Given the description of an element on the screen output the (x, y) to click on. 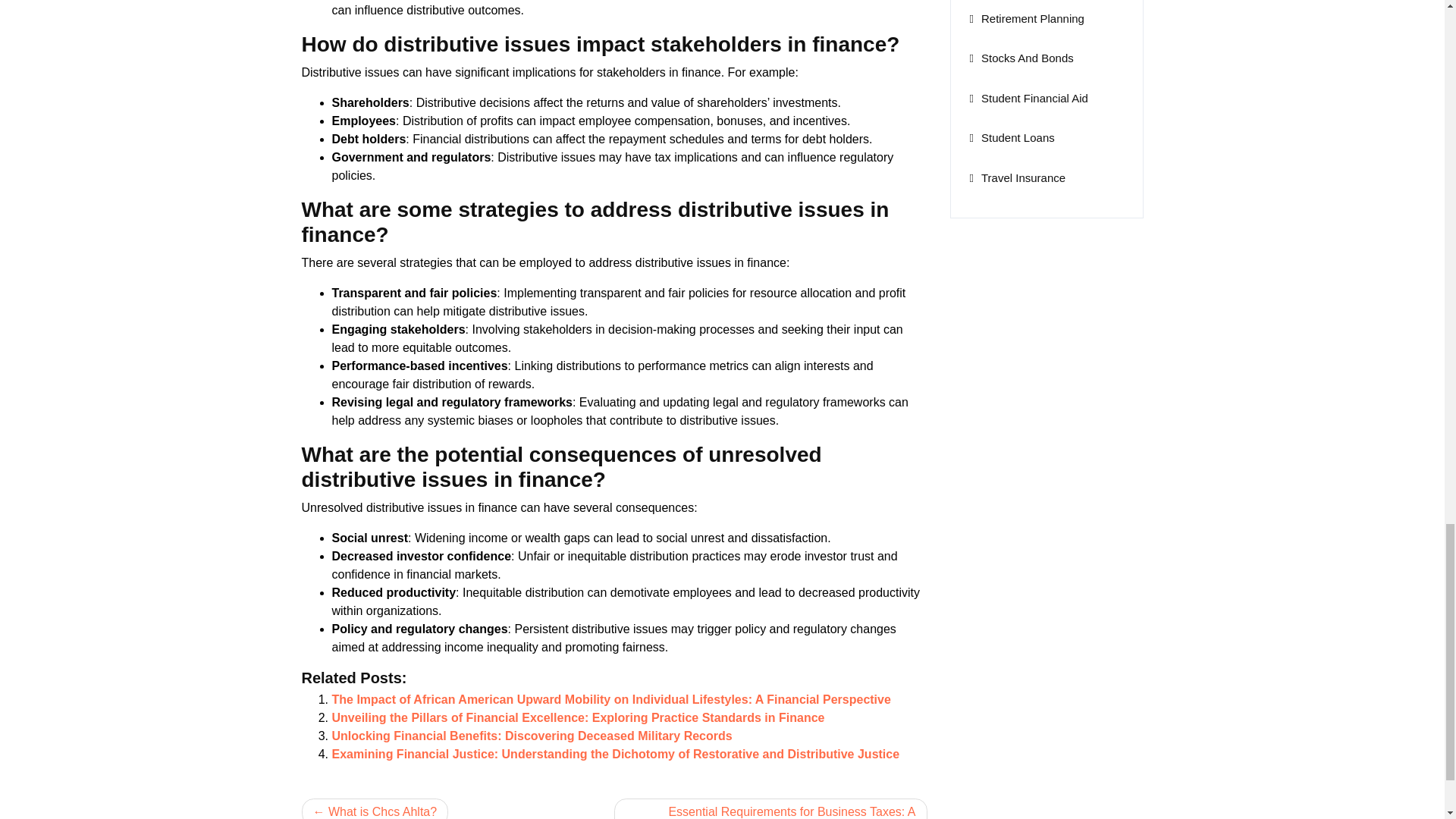
What is Chcs Ahlta? (374, 808)
